Given the description of an element on the screen output the (x, y) to click on. 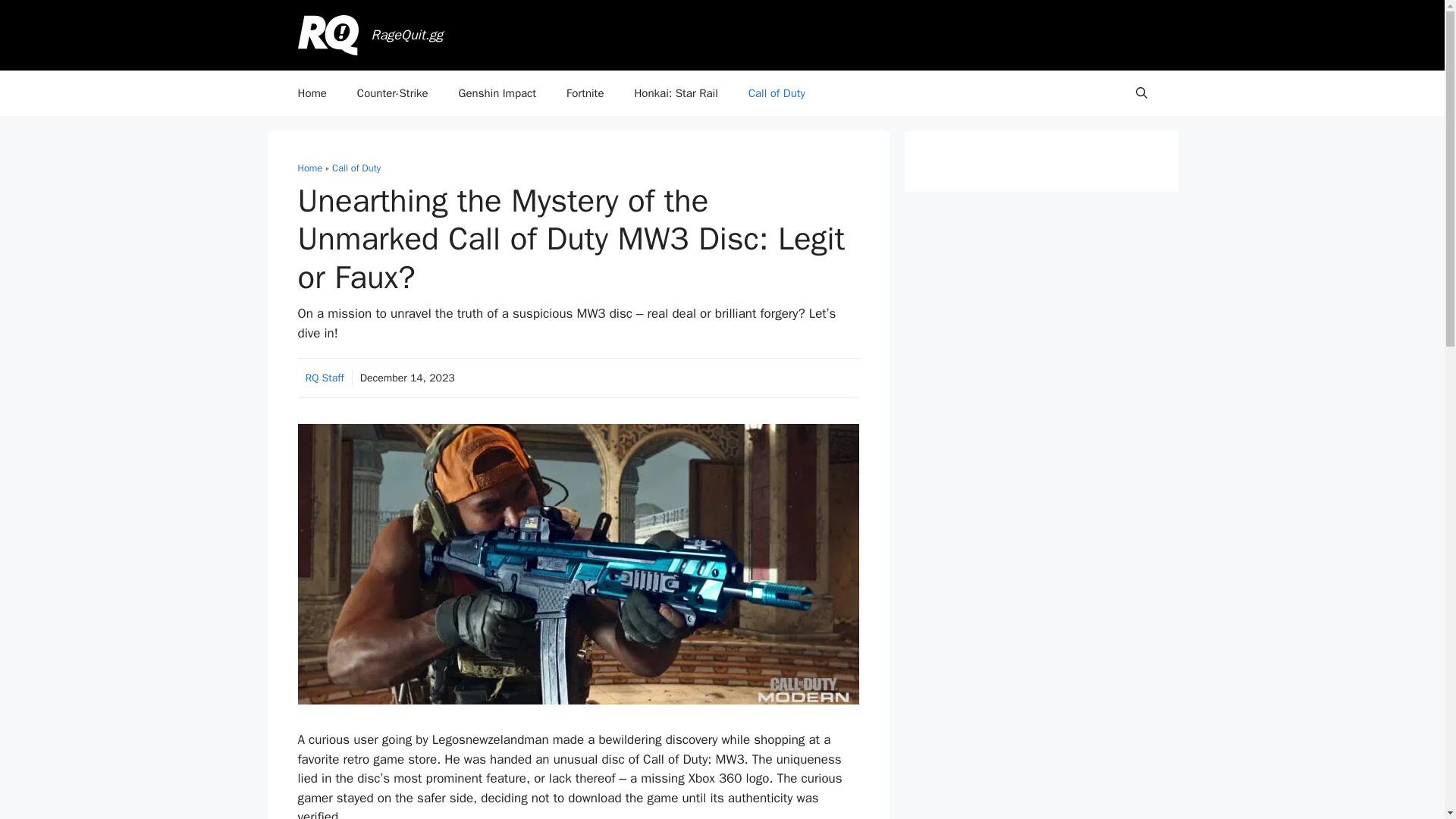
Counter-Strike (393, 93)
Call of Duty (777, 93)
Home (309, 168)
Home (311, 93)
Honkai: Star Rail (675, 93)
RQ Staff (323, 377)
RageQuit.gg (407, 34)
Fortnite (584, 93)
Call of Duty (355, 168)
Genshin Impact (497, 93)
